Given the description of an element on the screen output the (x, y) to click on. 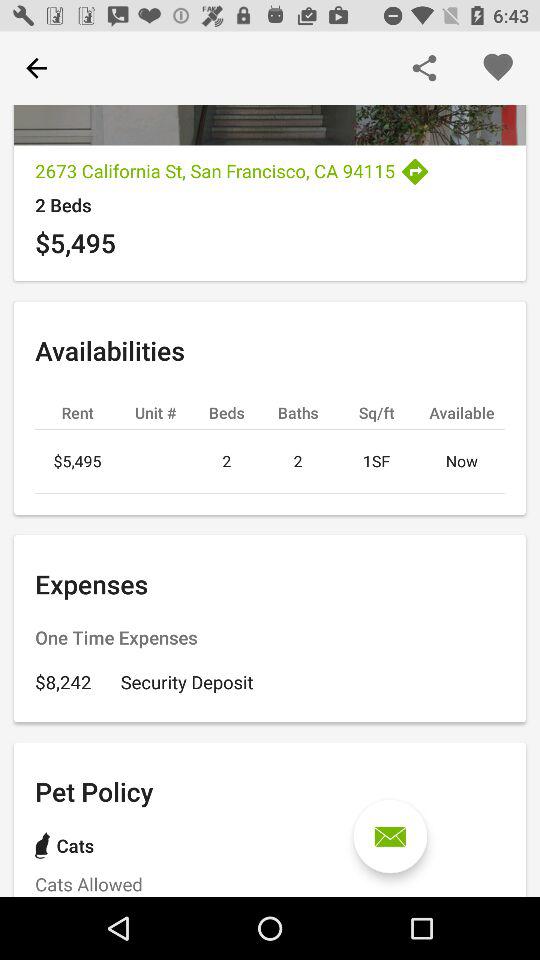
press item next to pet policy (389, 836)
